Given the description of an element on the screen output the (x, y) to click on. 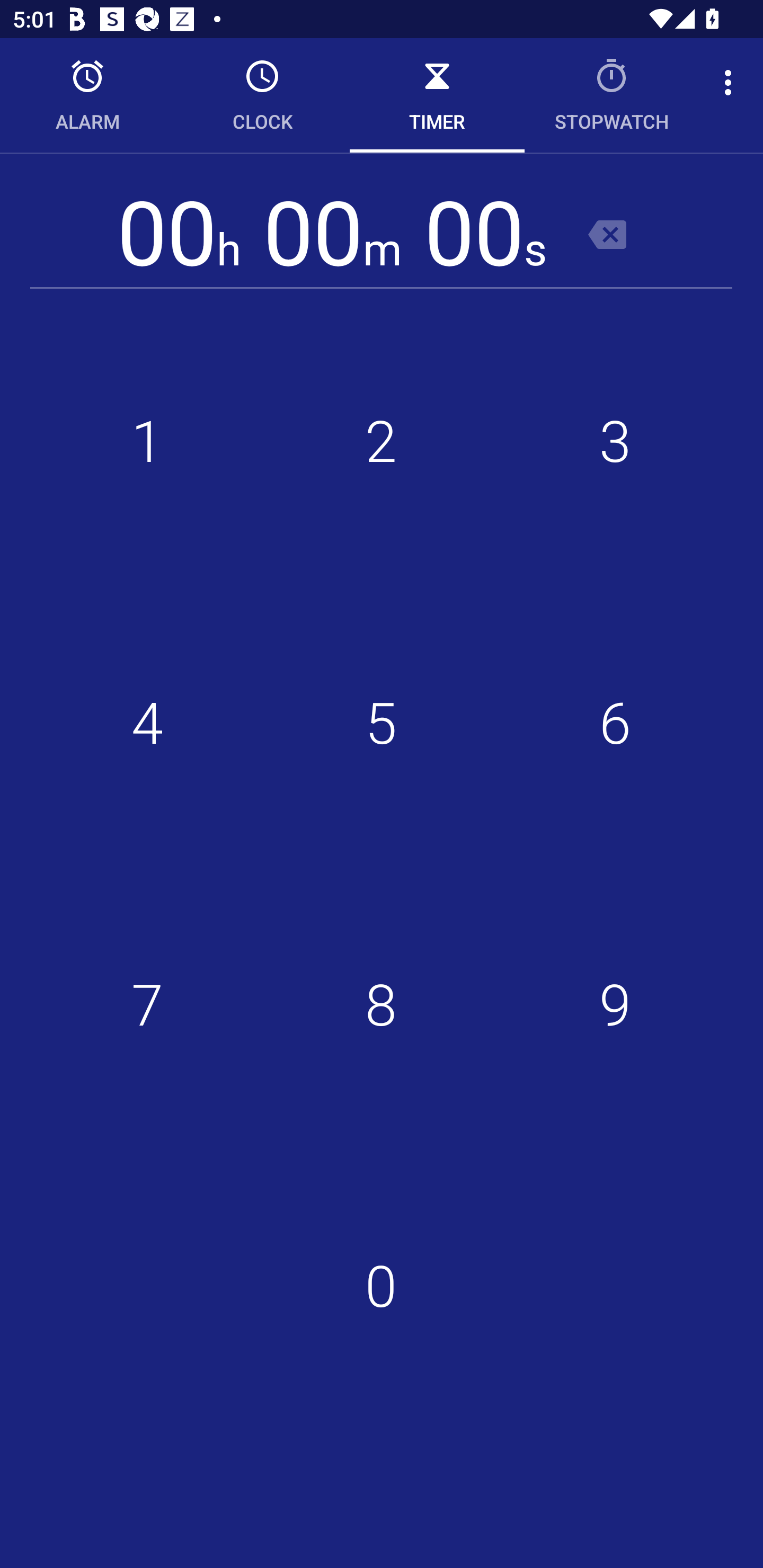
Alarm ALARM (87, 94)
Clock CLOCK (261, 94)
Stopwatch STOPWATCH (611, 94)
More options (731, 81)
Delete (607, 234)
1 (147, 442)
2 (381, 442)
3 (615, 442)
4 (147, 724)
5 (381, 724)
6 (615, 724)
7 (147, 1005)
8 (381, 1005)
9 (615, 1005)
0 (381, 1287)
